Given the description of an element on the screen output the (x, y) to click on. 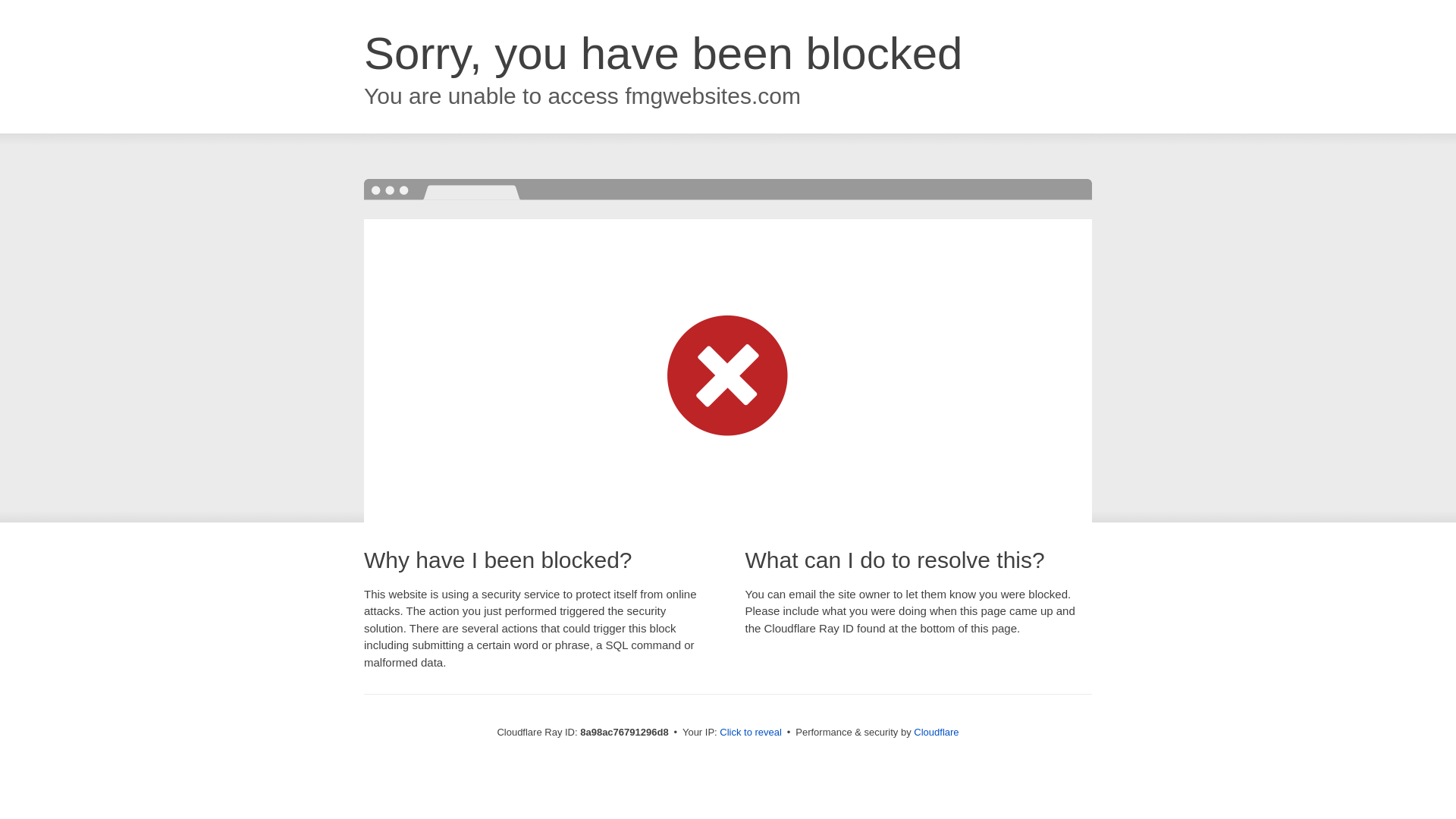
Click to reveal (750, 732)
Cloudflare (936, 731)
